Given the description of an element on the screen output the (x, y) to click on. 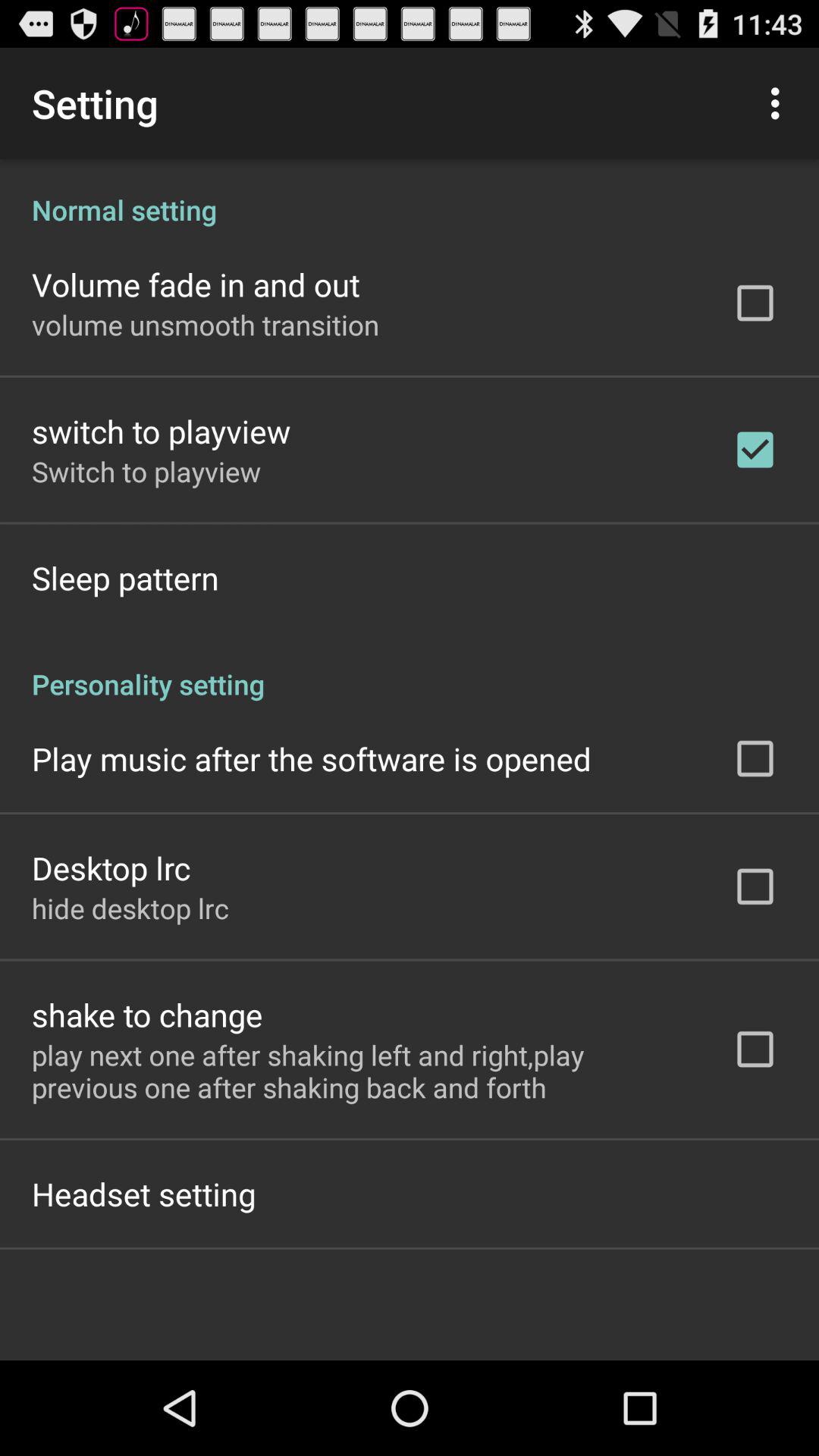
flip until the shake to change (146, 1014)
